Given the description of an element on the screen output the (x, y) to click on. 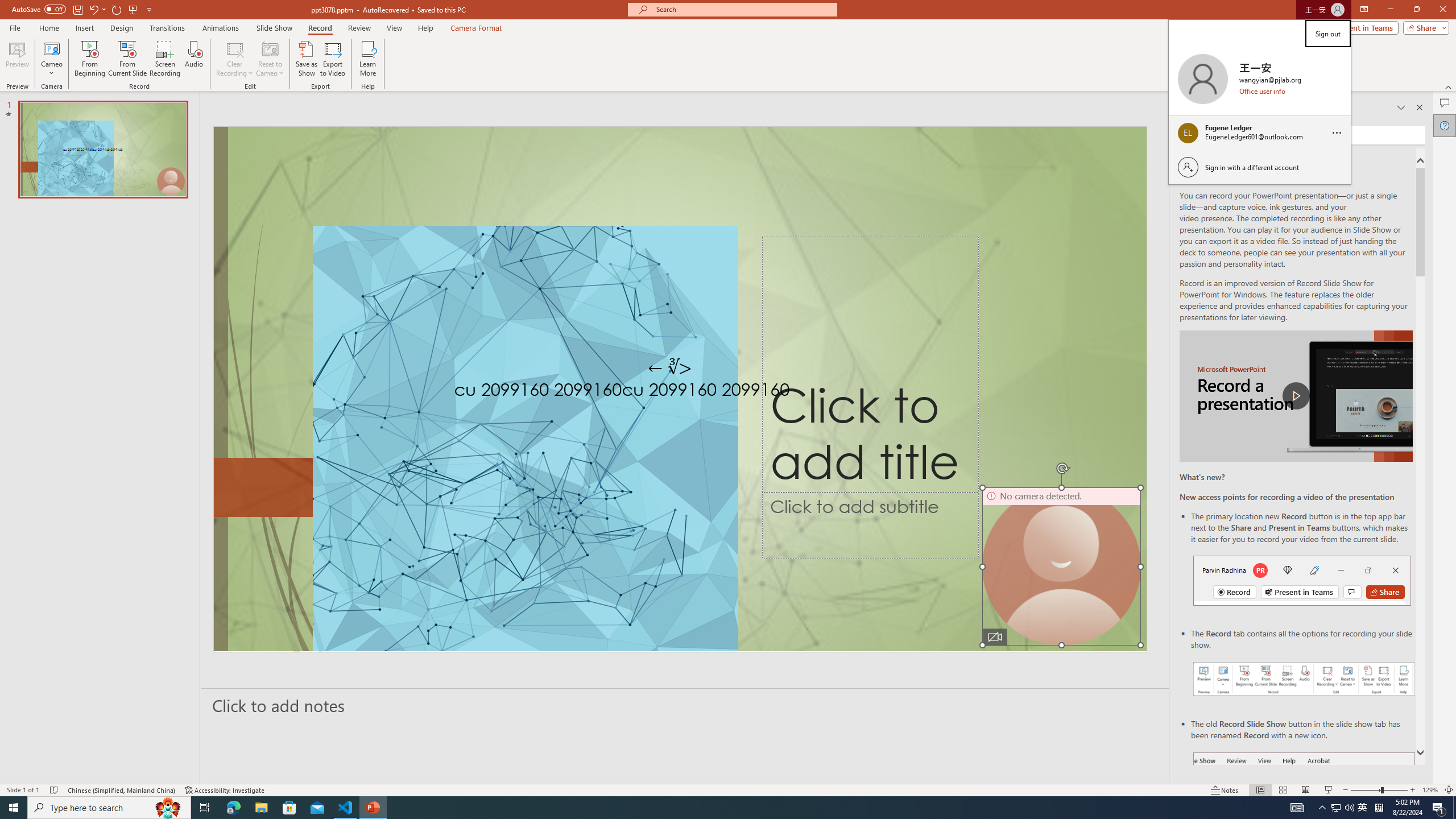
Action Center, 1 new notification (1439, 807)
Save as Show (306, 58)
From Current Slide... (127, 58)
